Given the description of an element on the screen output the (x, y) to click on. 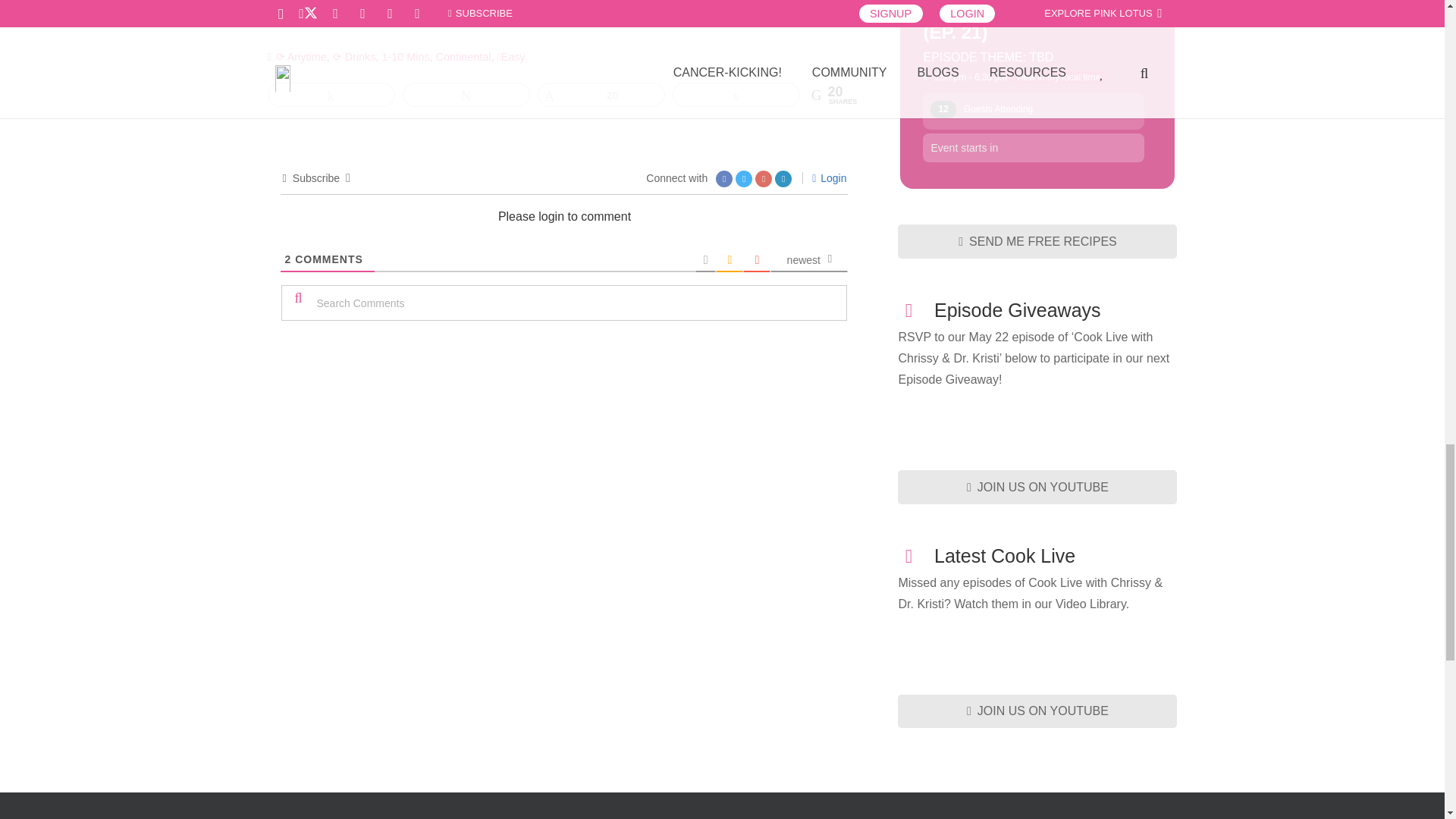
Subscribe to YouTube (1037, 487)
Cancer-Kicking! Kitchen Video Library (1037, 643)
My Time (1057, 77)
Subscribe to YouTube (1037, 711)
